Given the description of an element on the screen output the (x, y) to click on. 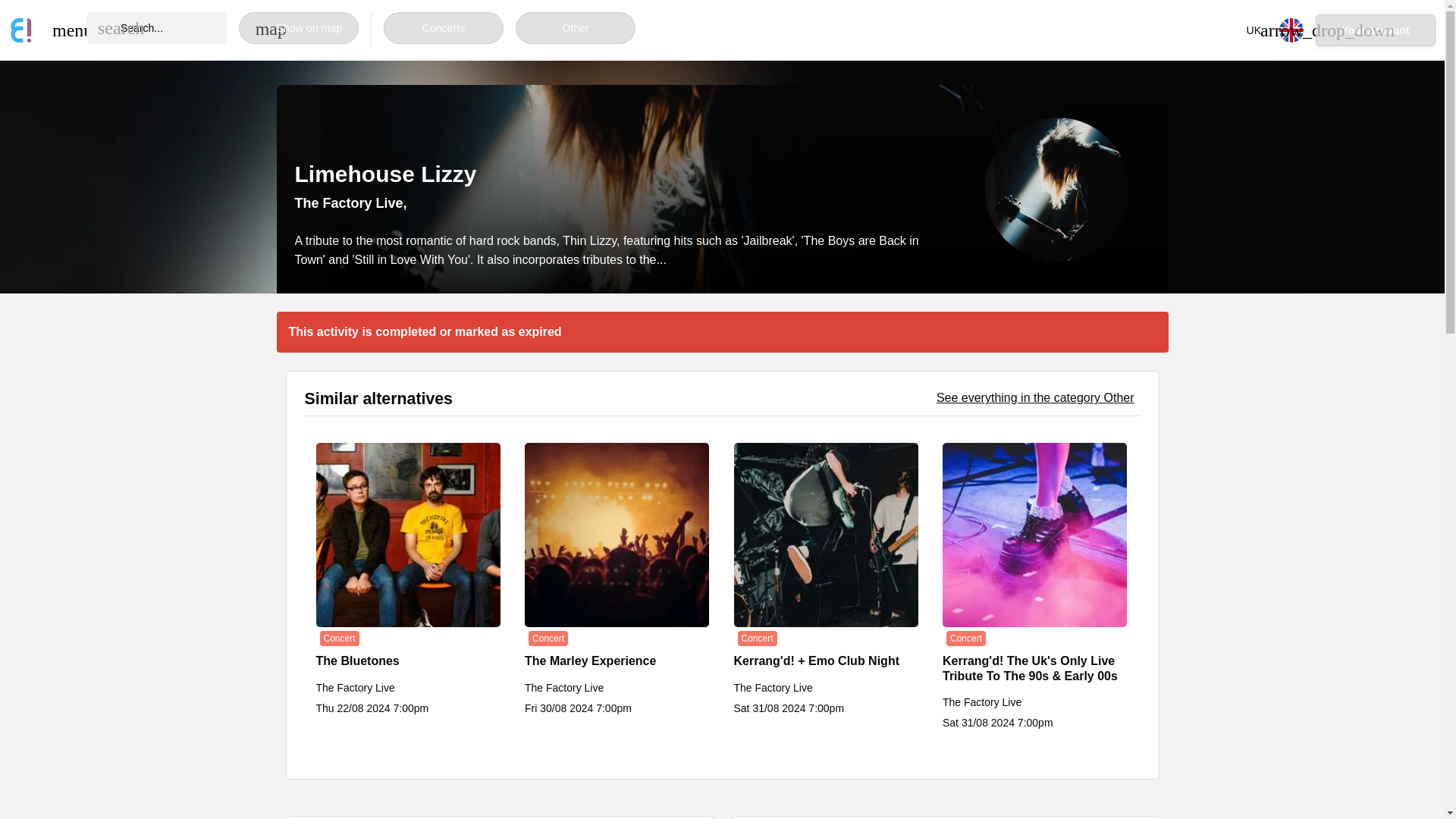
The Factory Live, (350, 202)
menu (63, 30)
Other (574, 28)
Concerts (443, 28)
map Show on map (298, 28)
Your account (1375, 29)
Show on google maps. (350, 202)
search (120, 26)
See everything in the category Other (1035, 397)
